Given the description of an element on the screen output the (x, y) to click on. 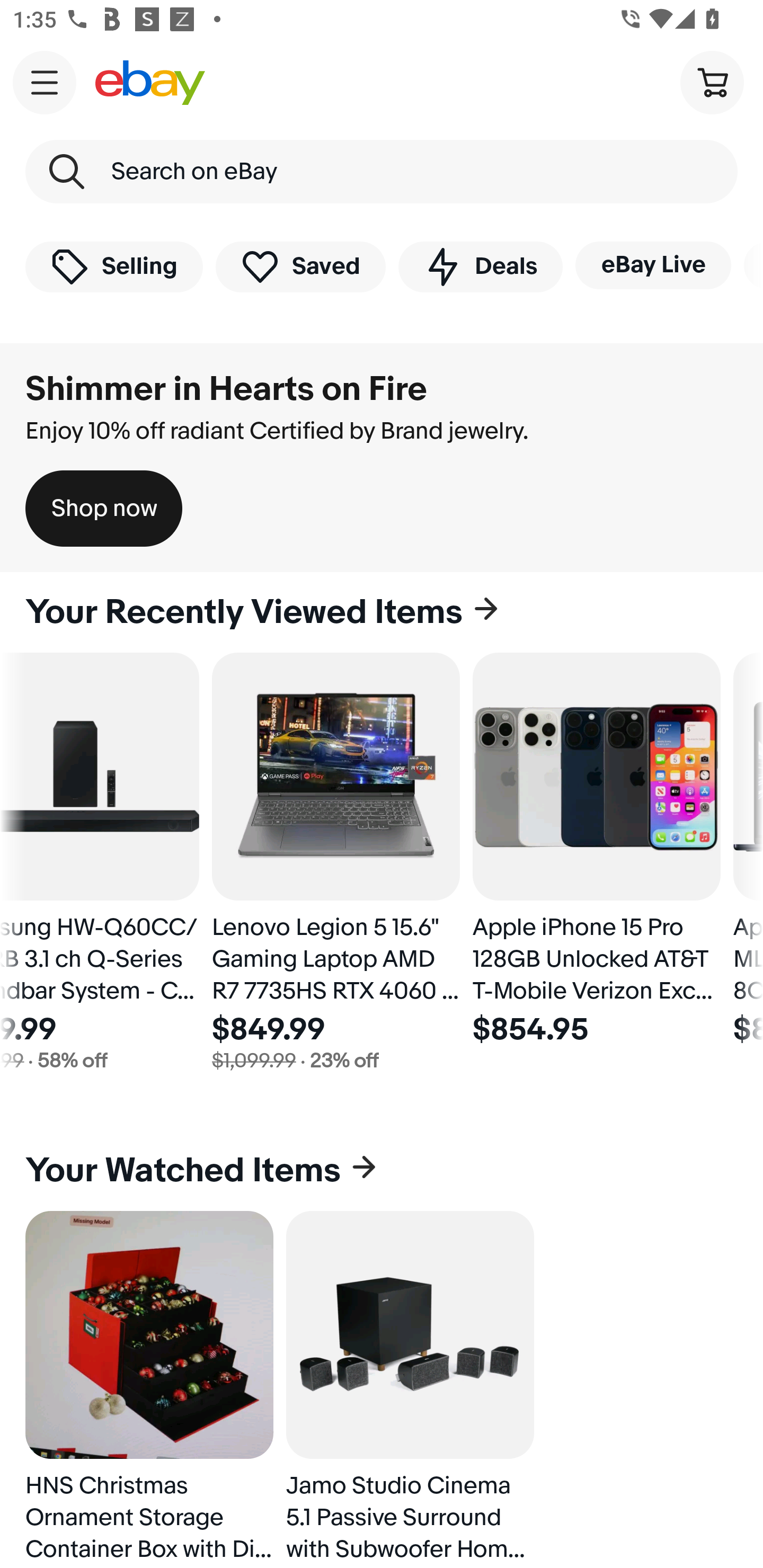
Main navigation, open (44, 82)
Cart button shopping cart (711, 81)
Search on eBay Search Keyword Search on eBay (381, 171)
Selling (113, 266)
Saved (300, 266)
Deals (480, 266)
eBay Live (652, 264)
Shimmer in Hearts on Fire (226, 389)
Shop now (103, 508)
Your Recently Viewed Items   (381, 612)
Your Watched Items   (381, 1170)
